Given the description of an element on the screen output the (x, y) to click on. 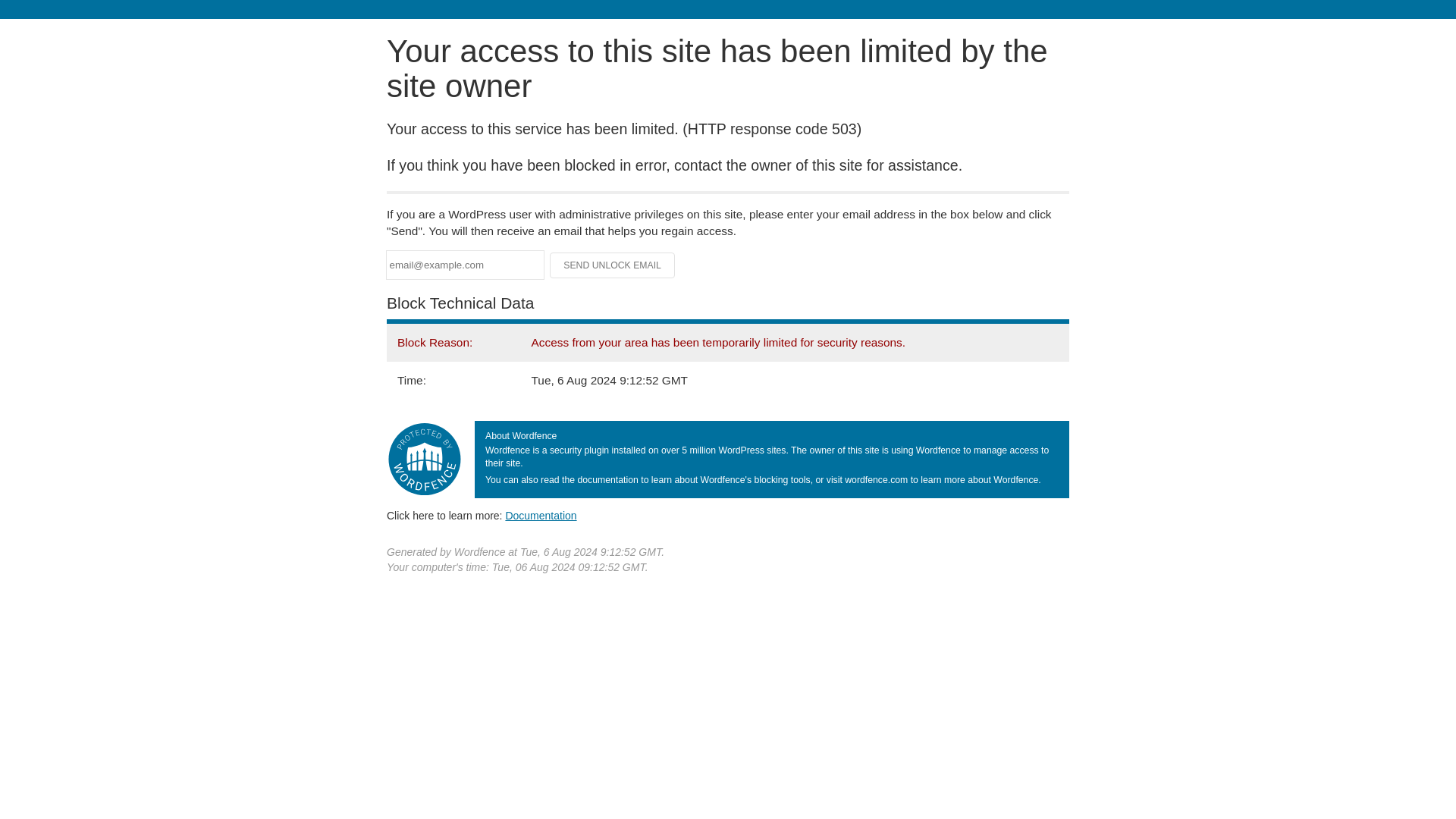
Send Unlock Email (612, 265)
Documentation (540, 515)
Send Unlock Email (612, 265)
